Given the description of an element on the screen output the (x, y) to click on. 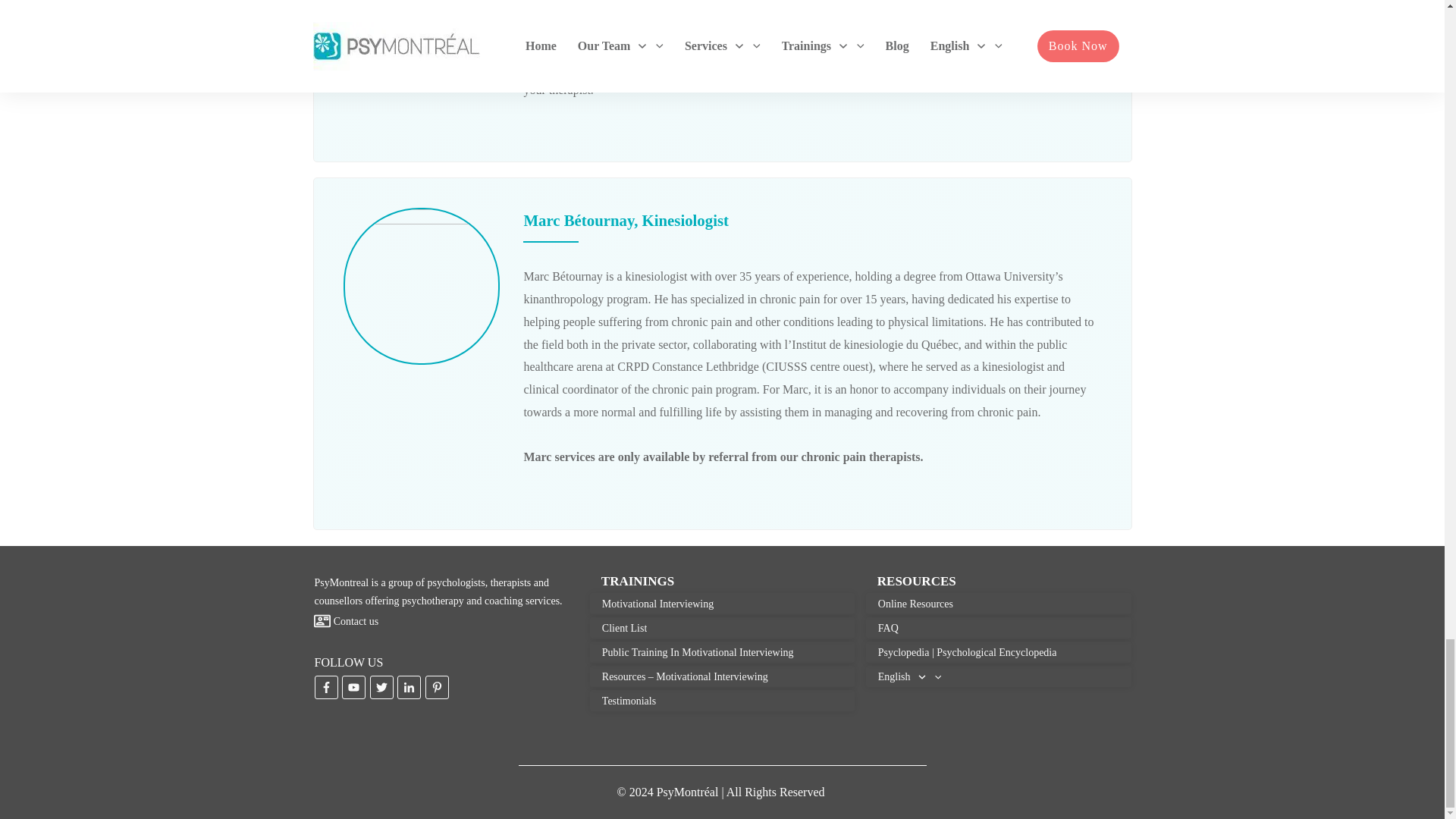
Contact us (355, 621)
English (908, 676)
Motivational Interviewing (657, 604)
